Given the description of an element on the screen output the (x, y) to click on. 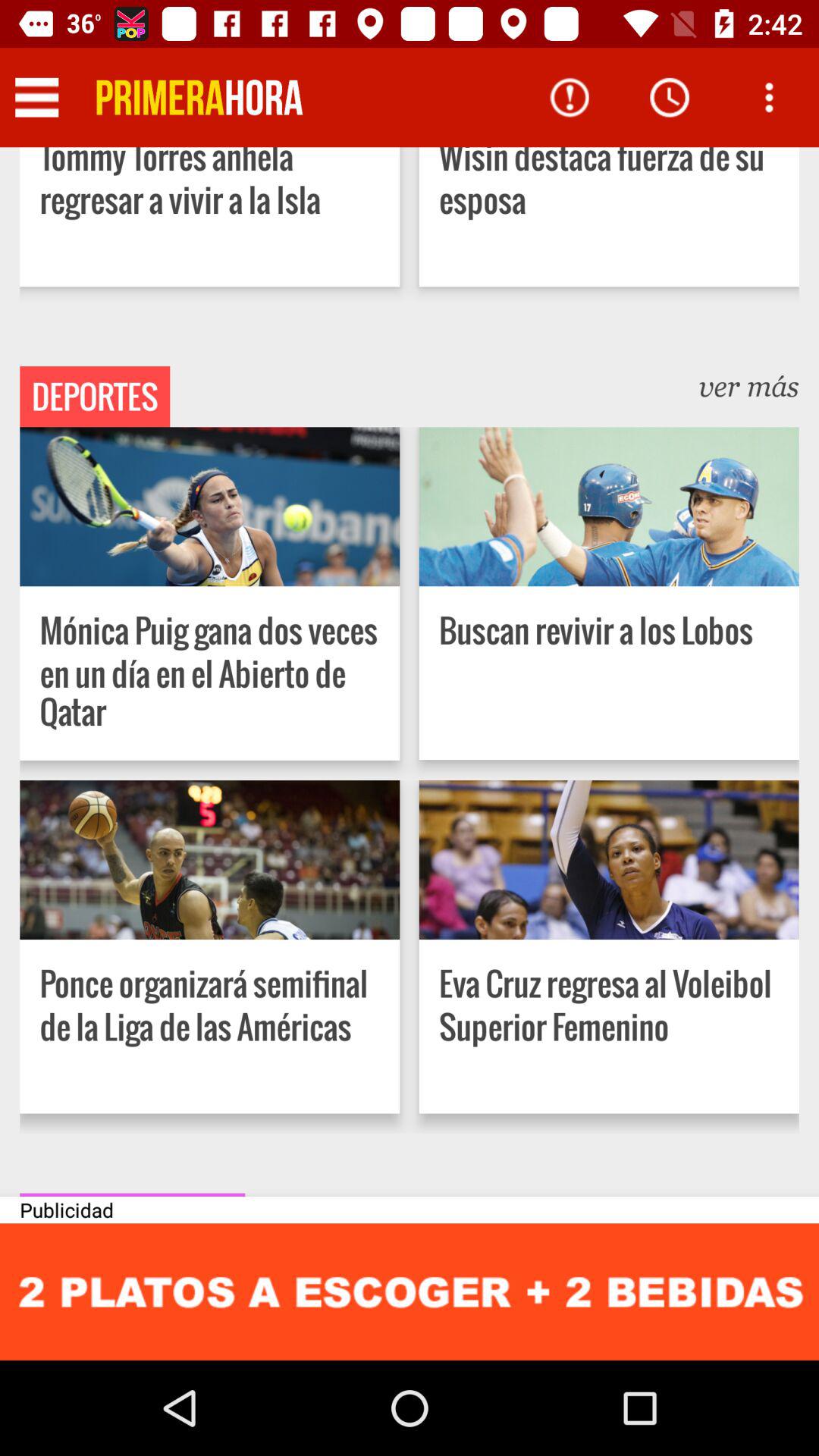
turn off app below tommy torres anhela app (94, 396)
